Given the description of an element on the screen output the (x, y) to click on. 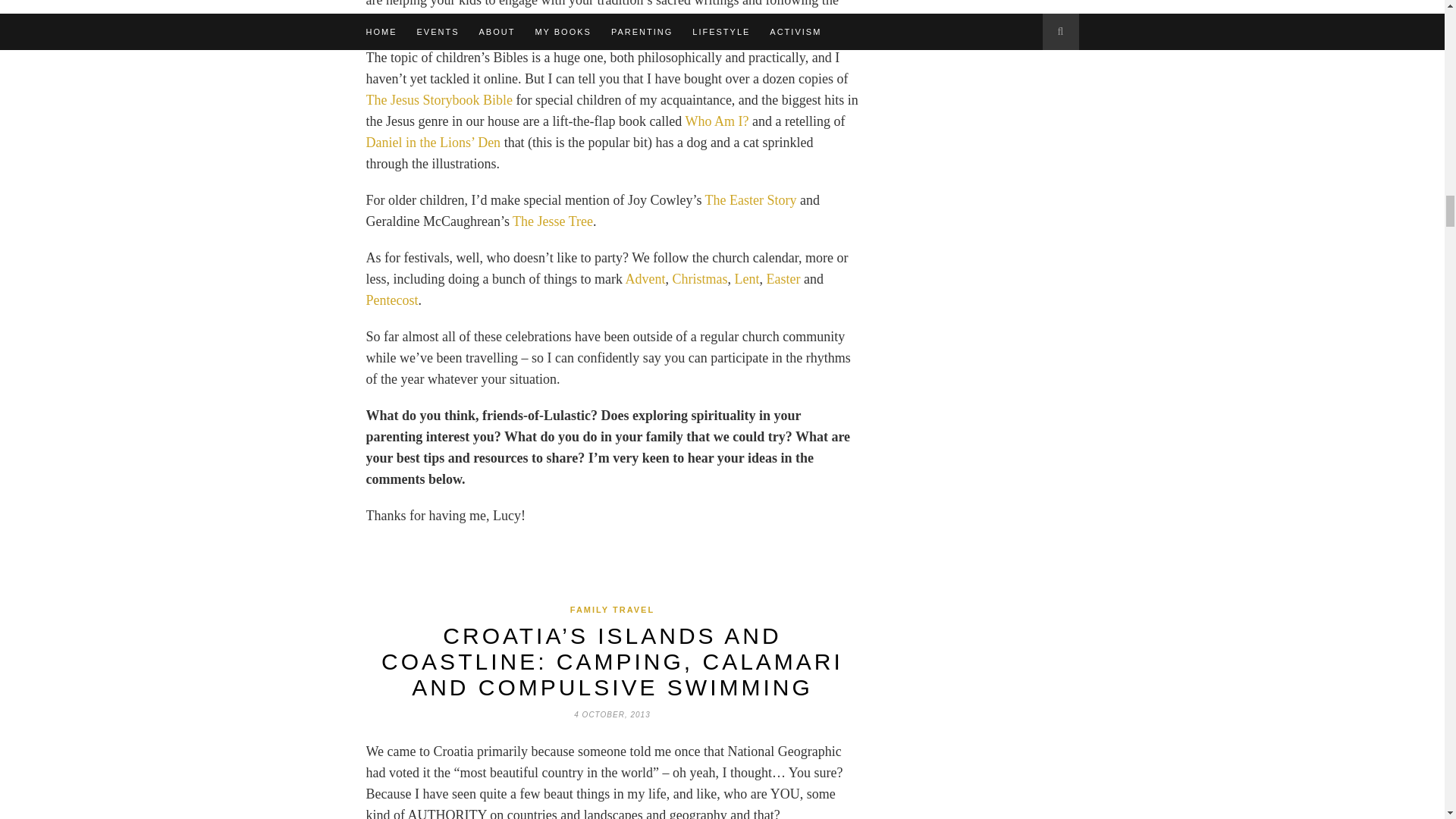
View all posts in Family Travel (611, 609)
